Given the description of an element on the screen output the (x, y) to click on. 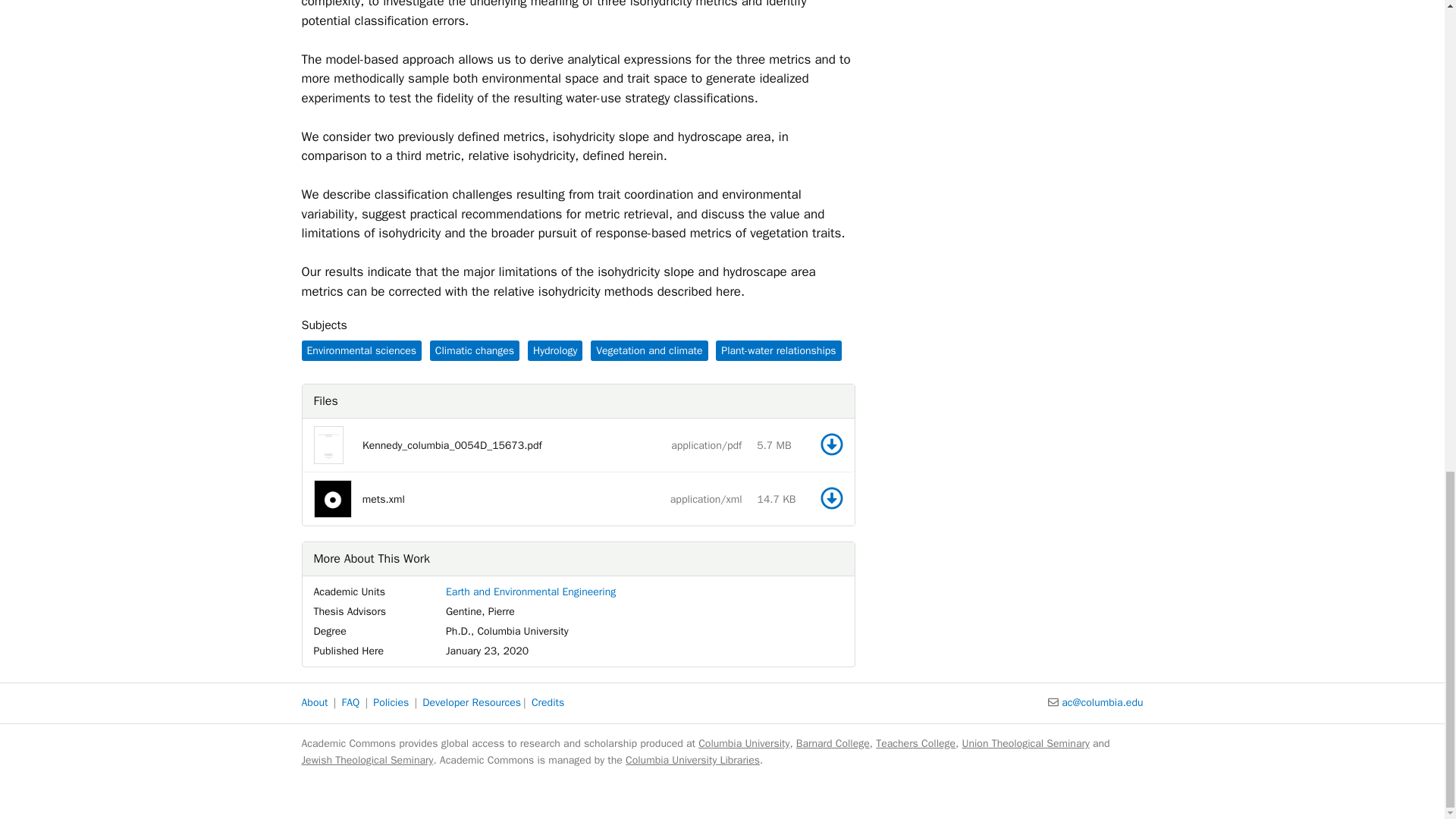
Jewish Theological Seminary (367, 759)
Columbia University (743, 743)
Plant-water relationships (778, 350)
Download file (832, 497)
Download file (832, 497)
Credits (547, 702)
Download file (832, 444)
FAQ (349, 702)
Barnard College (832, 743)
Columbia University Libraries (832, 498)
Policies (693, 759)
Developer Resources (390, 702)
Hydrology (471, 702)
About (554, 350)
